Given the description of an element on the screen output the (x, y) to click on. 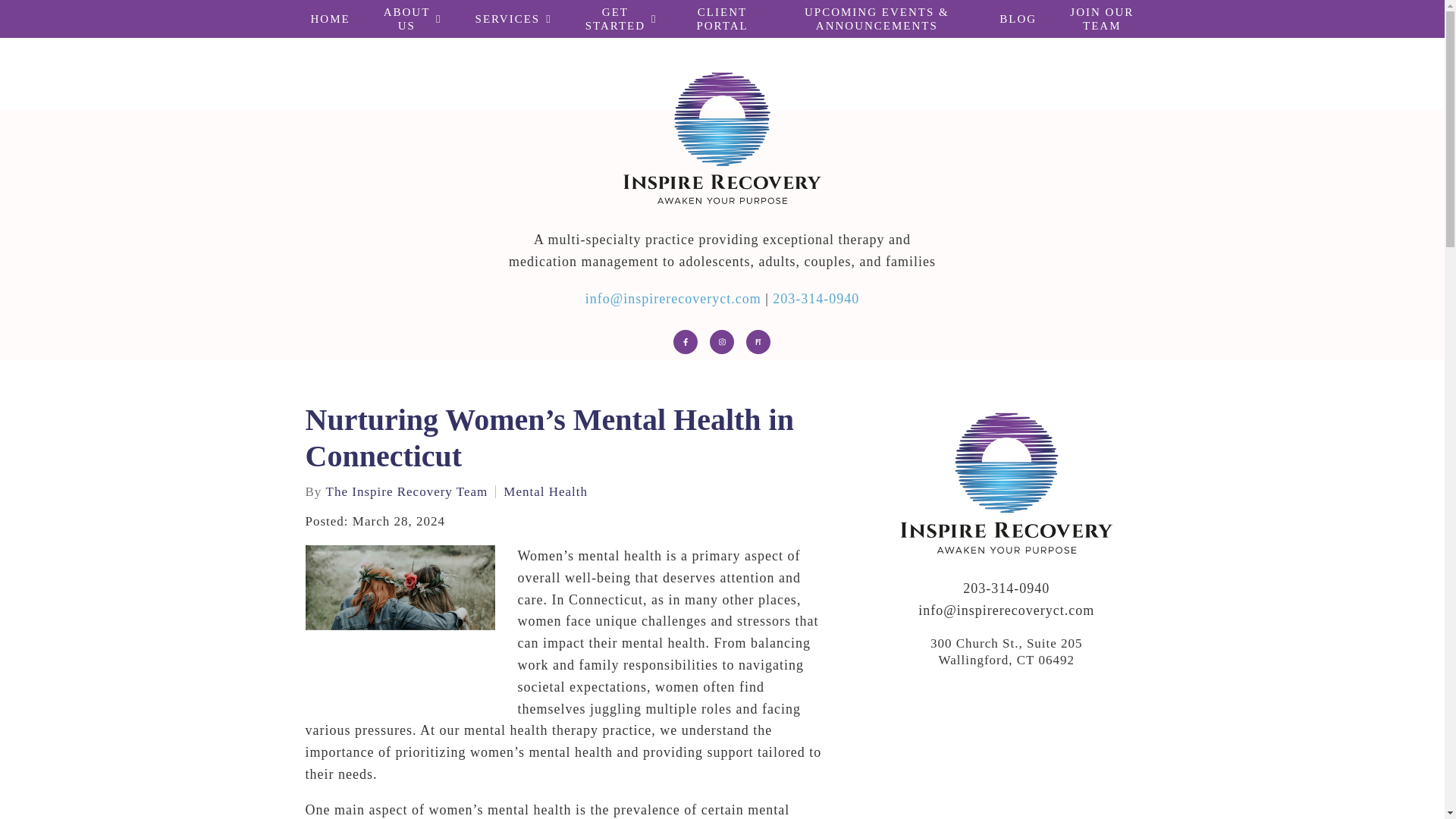
GET STARTED (621, 18)
SERVICES (513, 18)
Posts by The Inspire Recovery Team (406, 491)
ABOUT US (412, 18)
HOME (330, 18)
